Given the description of an element on the screen output the (x, y) to click on. 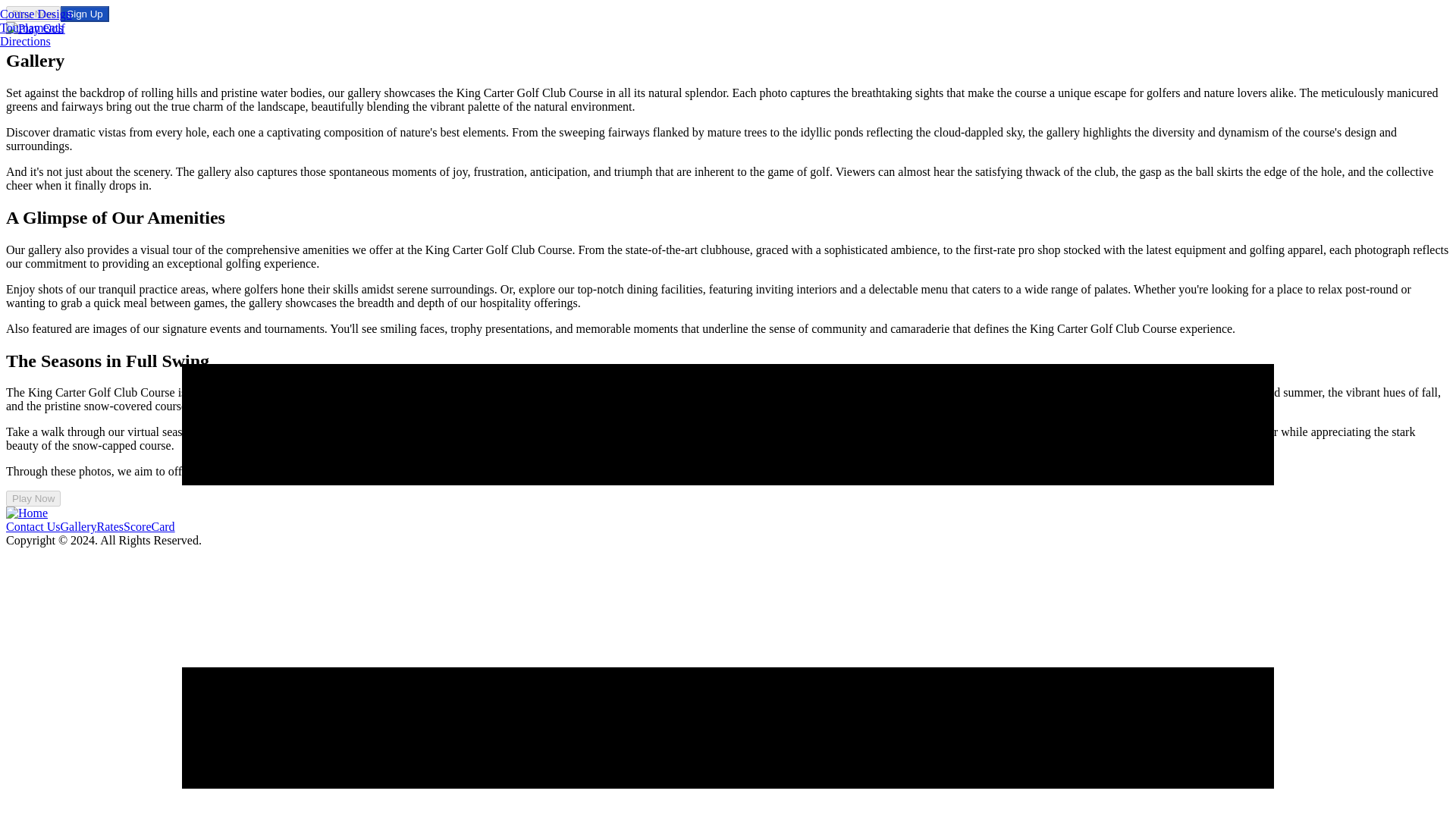
ScoreCard (148, 526)
Play Now (33, 13)
Gallery (79, 526)
Contact Us (33, 526)
Sign Up (84, 13)
Rates (110, 526)
Play Now (33, 498)
